Given the description of an element on the screen output the (x, y) to click on. 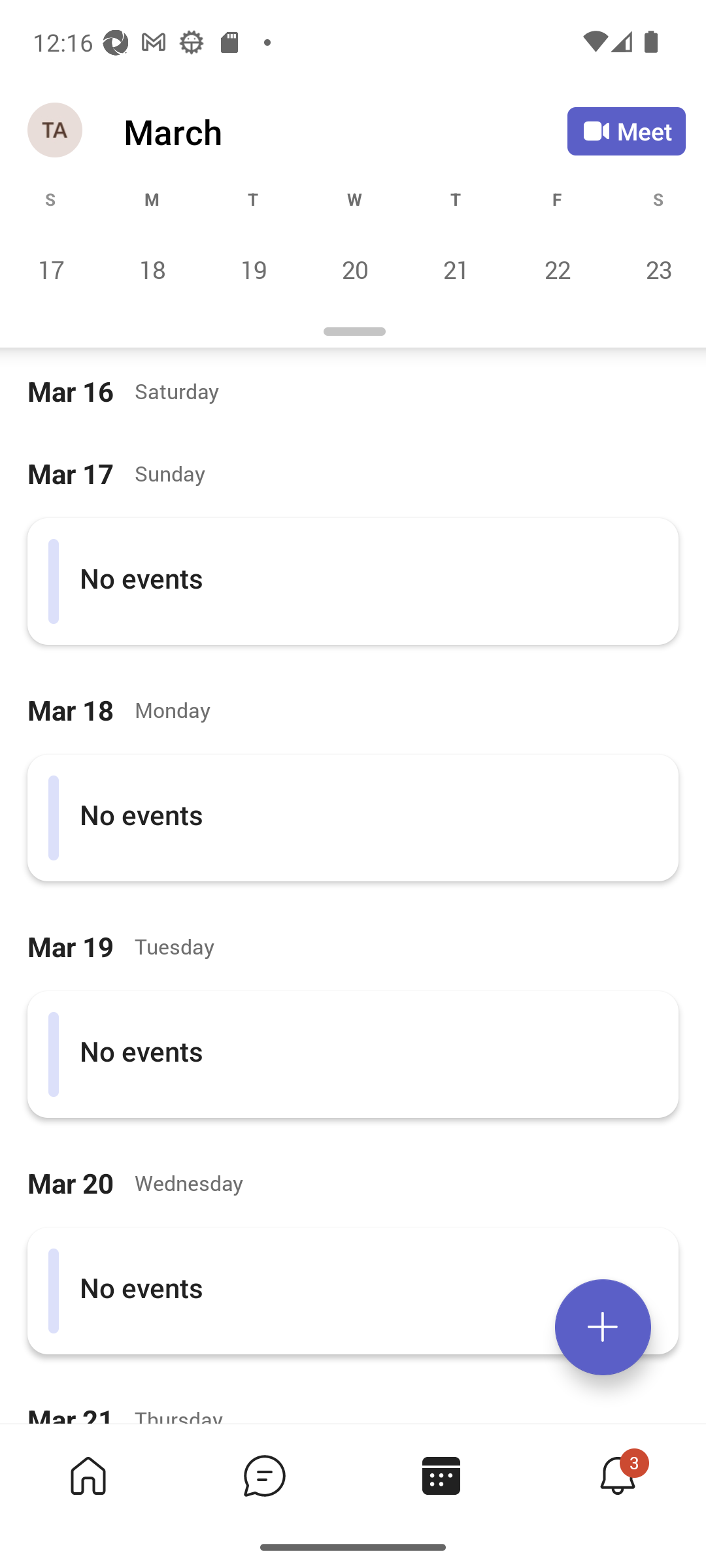
Navigation (56, 130)
Meet Meet now or join with an ID (626, 130)
March March Calendar Agenda View (345, 131)
Sunday, March 17 17 (50, 269)
Monday, March 18 18 (151, 269)
Tuesday, March 19 19 (253, 269)
Wednesday, March 20 20 (354, 269)
Thursday, March 21 21 (455, 269)
Friday, March 22 22 (556, 269)
Saturday, March 23 23 (656, 269)
Expand meetings menu (602, 1327)
Home tab,1 of 4, not selected (88, 1475)
Chat tab,2 of 4, not selected (264, 1475)
Calendar tab, 3 of 4 (441, 1475)
Activity tab,4 of 4, not selected, 3 new 3 (617, 1475)
